Given the description of an element on the screen output the (x, y) to click on. 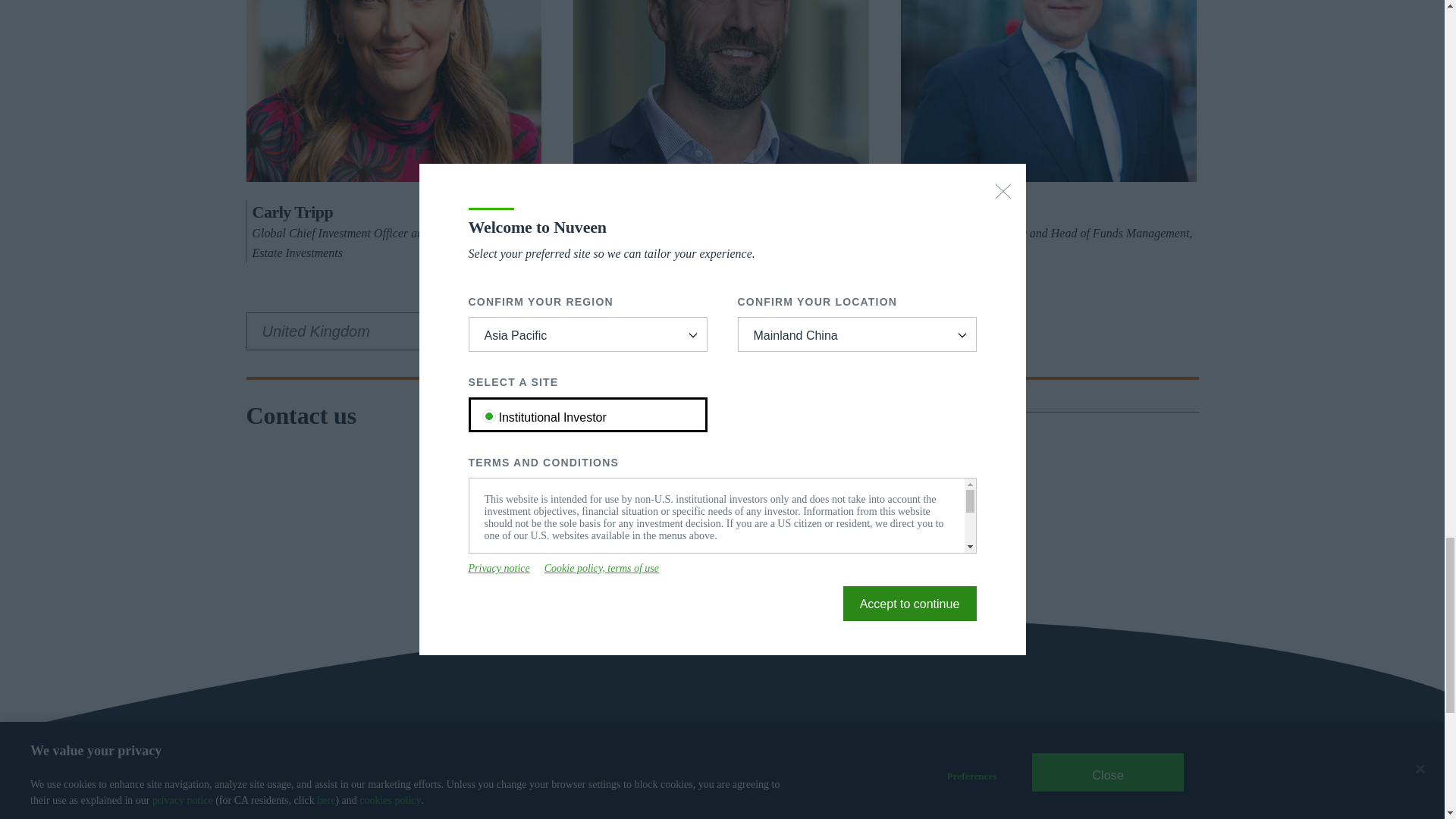
opens in a new window (1013, 766)
opens in a new window (845, 766)
opens in a new window (928, 766)
opens in a new window (1097, 766)
